Given the description of an element on the screen output the (x, y) to click on. 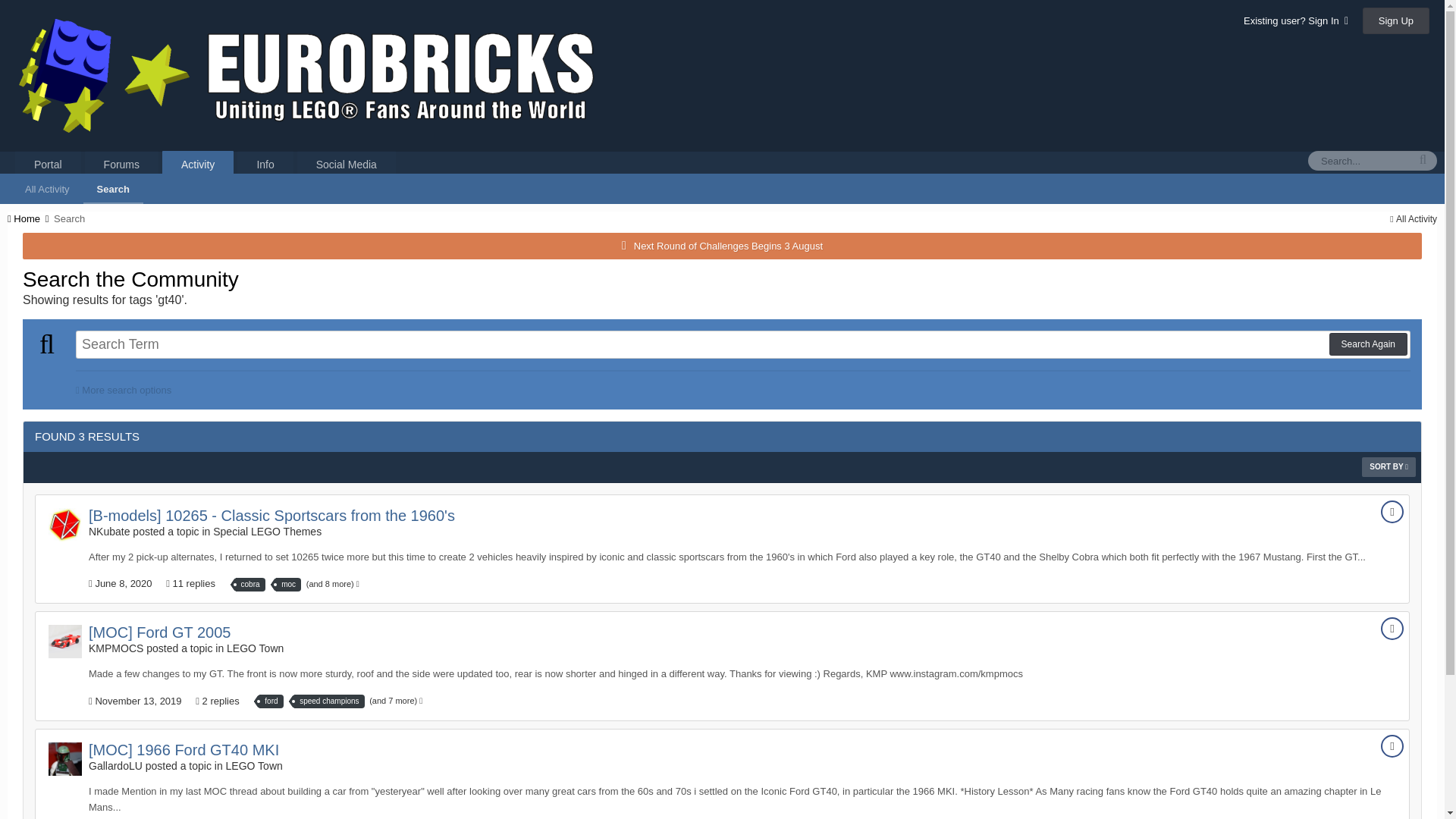
Topic (1391, 628)
Portal (47, 164)
Topic (1391, 511)
Find other content tagged with 'cobra' (249, 584)
Existing user? Sign In   (1295, 20)
Forums (121, 164)
Home (28, 218)
Go to NKubate's profile (64, 524)
Sign Up (1395, 20)
Find other content tagged with 'moc' (288, 584)
